Given the description of an element on the screen output the (x, y) to click on. 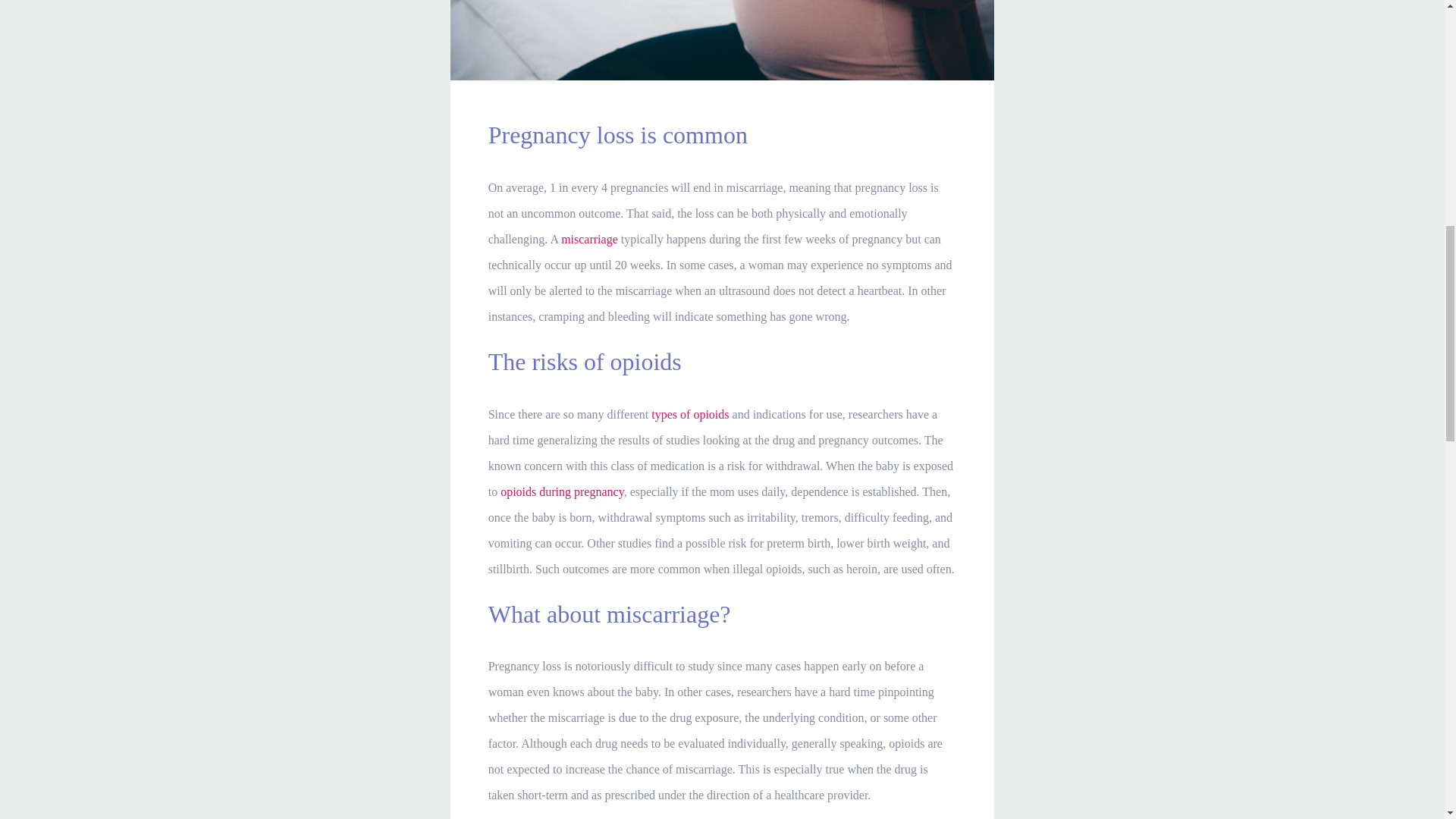
opioids during pregnancy (561, 491)
types of opioids (689, 413)
miscarriage (588, 238)
